Given the description of an element on the screen output the (x, y) to click on. 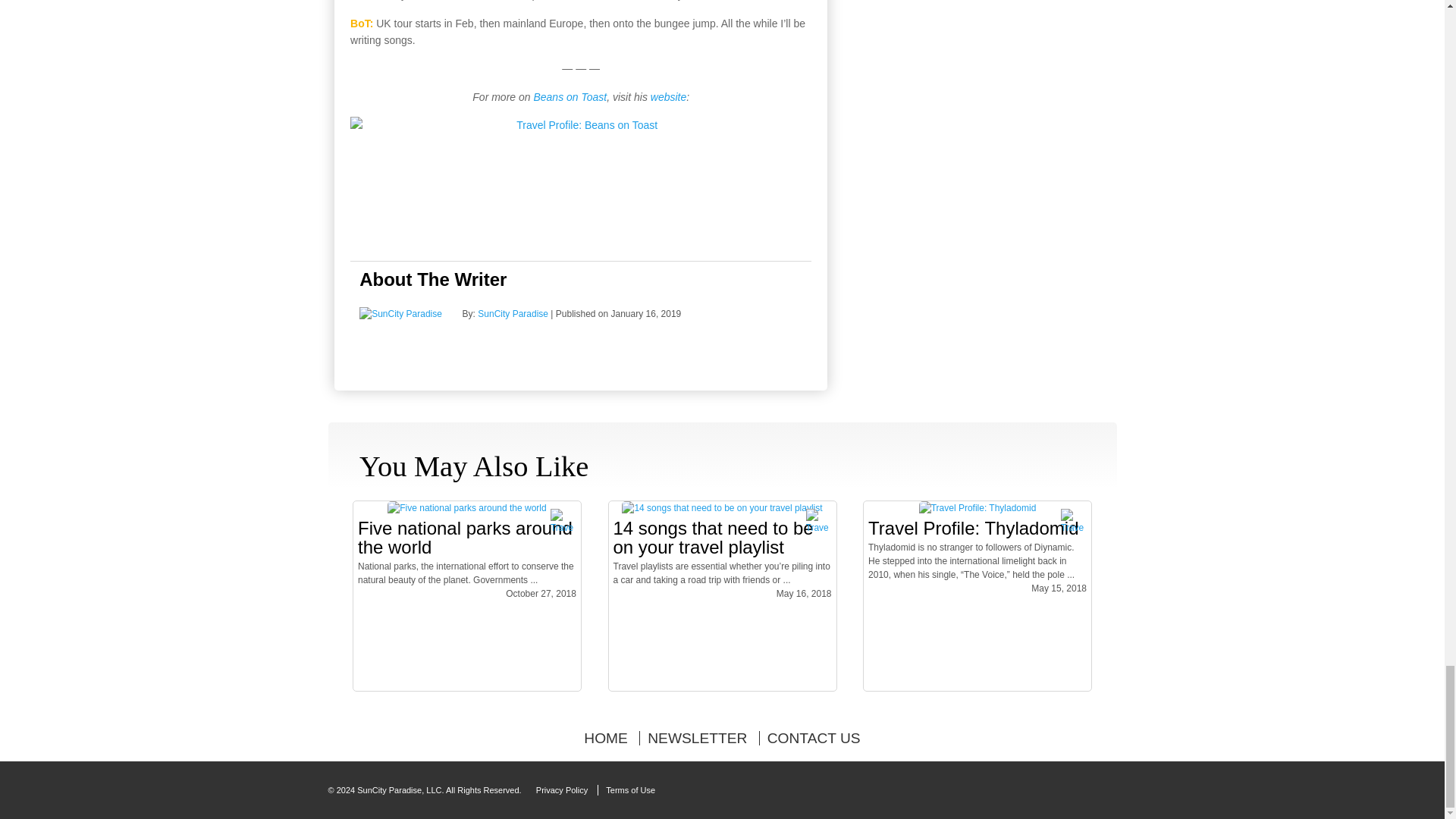
SunCity Paradise (512, 313)
Facebook: SunCity Paradise (552, 347)
LinkedIn: SunCity Paradise (515, 347)
SunCity Paradise (400, 313)
Twitter: SunCity Paradise (479, 348)
Five national parks around the world (466, 507)
